Given the description of an element on the screen output the (x, y) to click on. 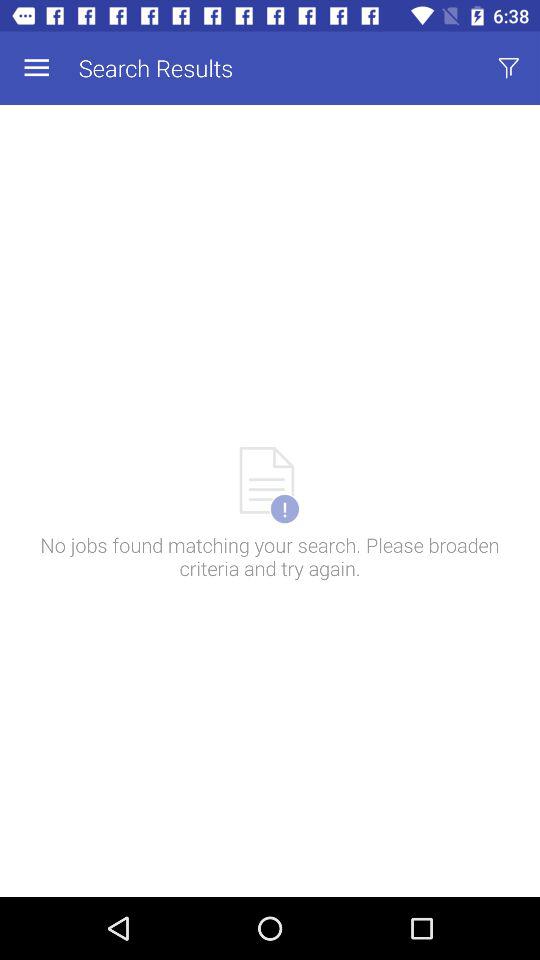
click the icon at the top right corner (508, 67)
